Given the description of an element on the screen output the (x, y) to click on. 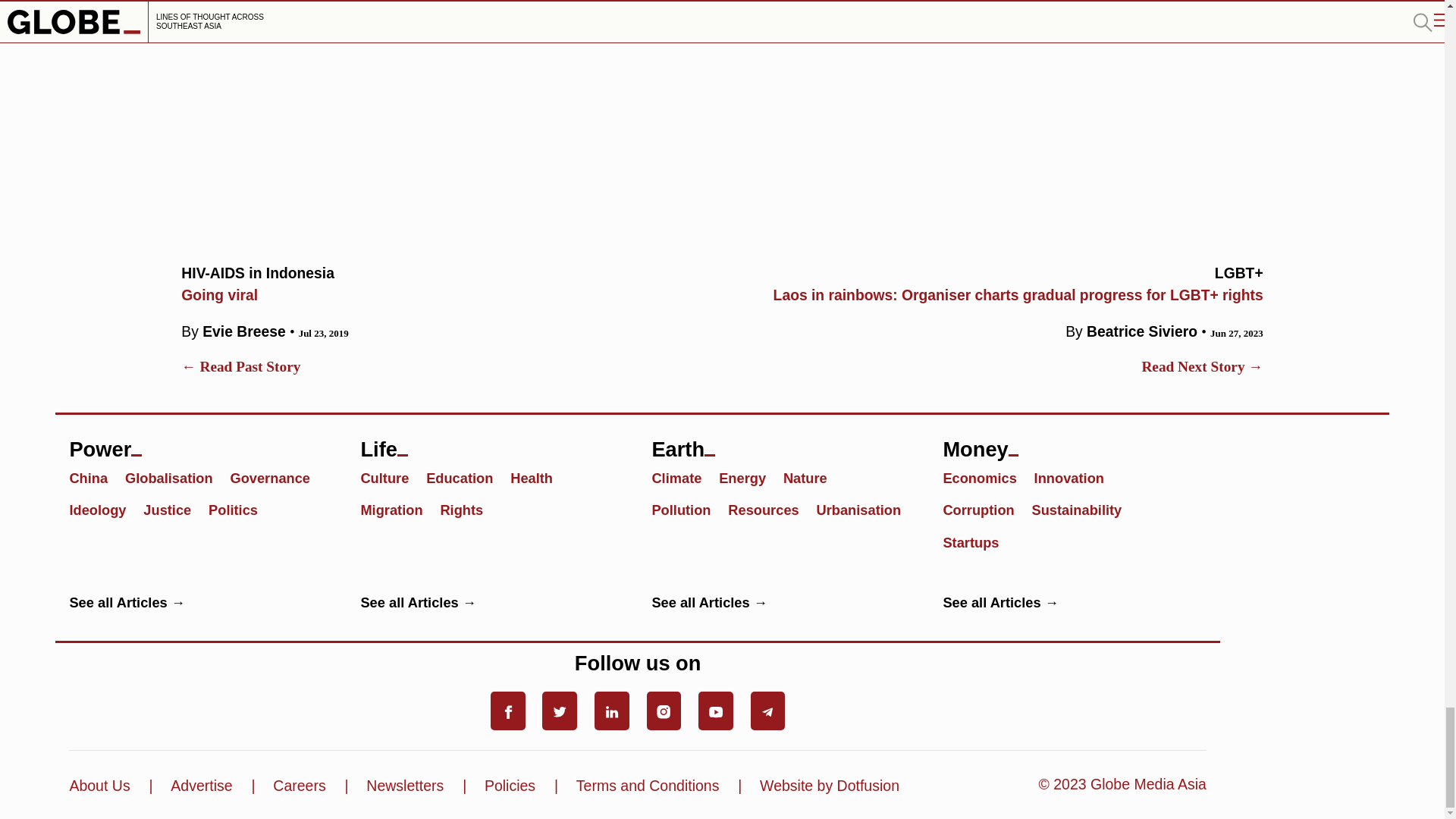
Politics (239, 508)
Ideology (103, 508)
Justice (173, 508)
Power (199, 442)
Governance (276, 477)
Globalisation (443, 281)
China (176, 477)
